Given the description of an element on the screen output the (x, y) to click on. 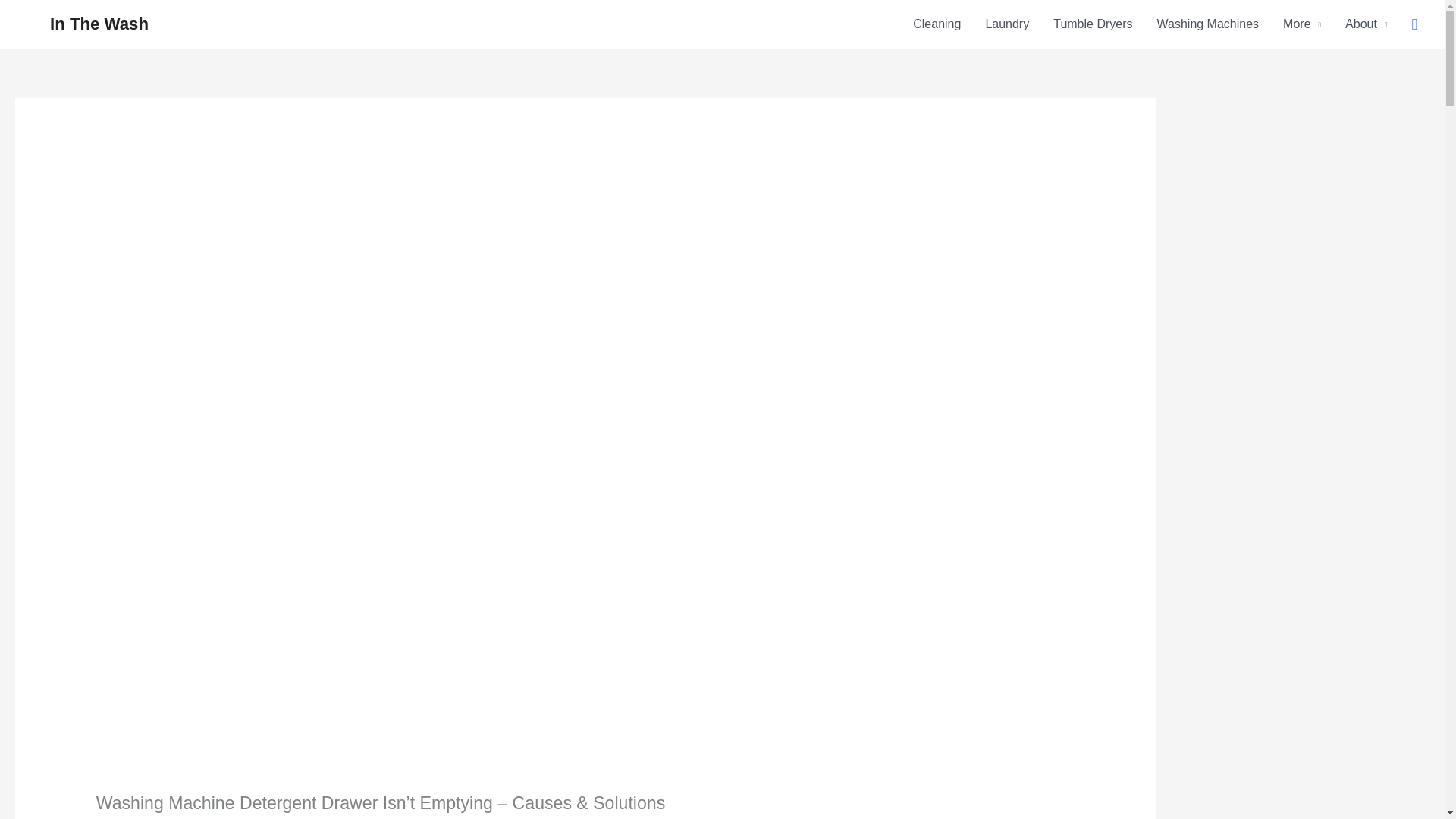
More (1302, 24)
Cleaning (936, 24)
Laundry (1006, 24)
In The Wash (98, 23)
Tumble Dryers (1092, 24)
About (1366, 24)
Washing Machines (1207, 24)
